Given the description of an element on the screen output the (x, y) to click on. 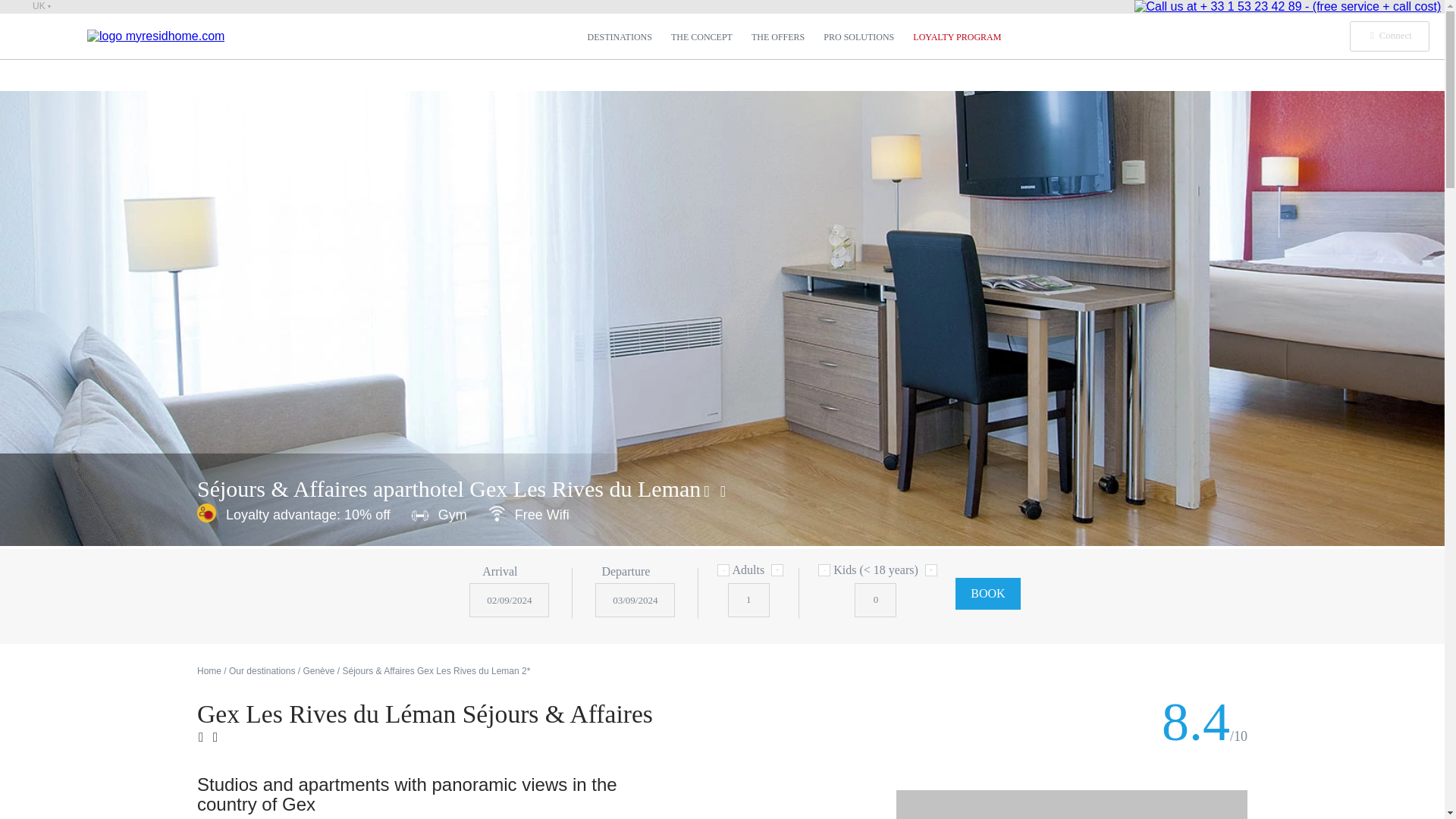
MyResidhome.com (155, 36)
THE CONCEPT (701, 36)
Home (208, 670)
Home (208, 670)
Our destinations (261, 670)
1 (749, 600)
Our destinations (261, 670)
PRO SOLUTIONS (858, 36)
LOYALTY PROGRAM (956, 36)
Connect (1389, 36)
